Given the description of an element on the screen output the (x, y) to click on. 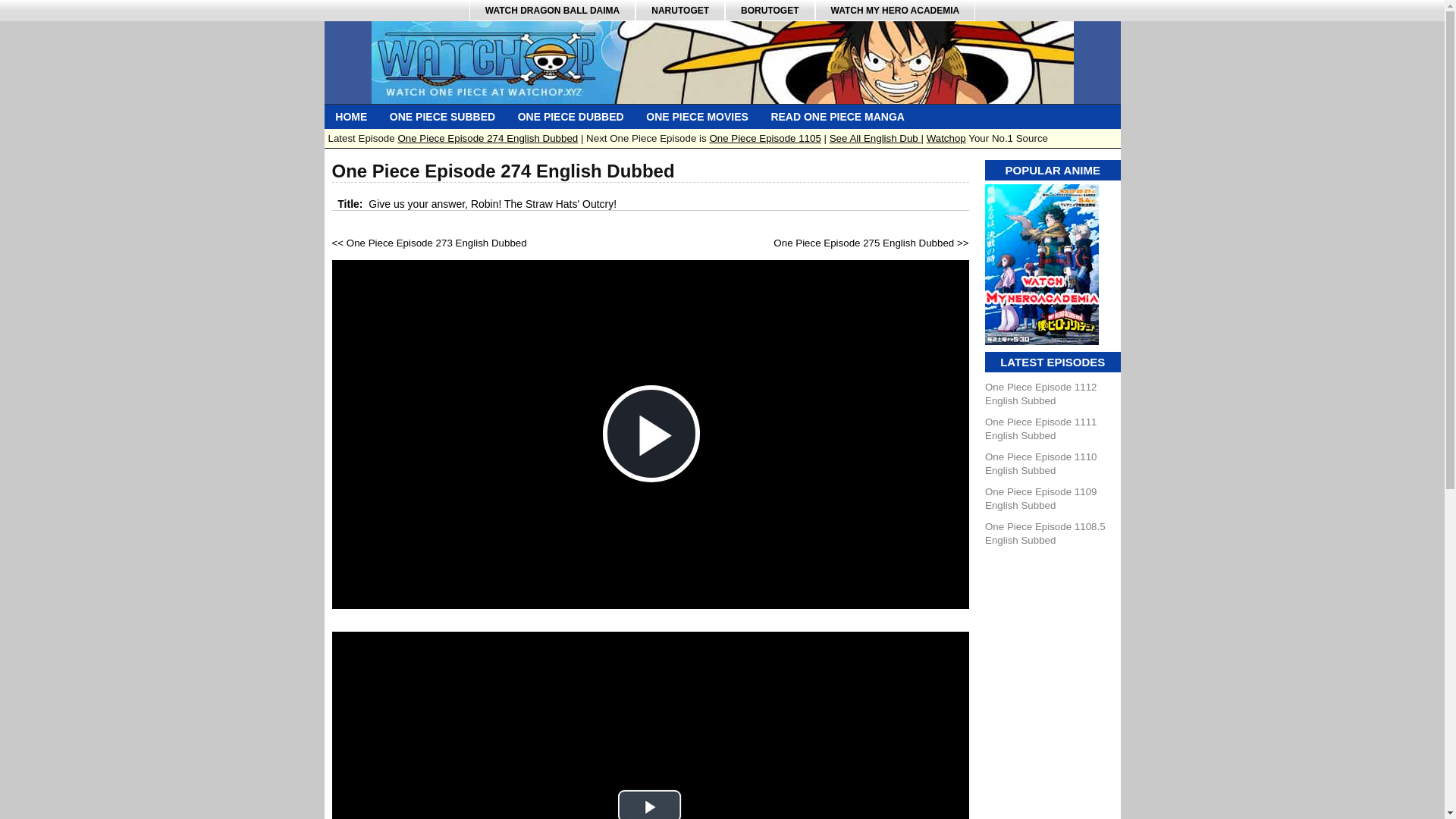
WATCH MY HERO ACADEMIA (895, 10)
WATCH DRAGON BALL DAIMA (552, 10)
One Piece Episode 1108.5 English Subbed (1045, 533)
One Piece Episode 1111 English Subbed (1040, 428)
One Piece English Dubbed (570, 116)
Manga (837, 116)
ONE PIECE MOVIES (696, 116)
Watchop (722, 62)
Home (351, 116)
Movies (696, 116)
Dragon Ball Super (552, 10)
One Piece Episode 273 English Dubbed (436, 242)
ONE PIECE SUBBED (442, 116)
BORUTOGET (769, 10)
One Piece Episode 1105 (765, 138)
